Given the description of an element on the screen output the (x, y) to click on. 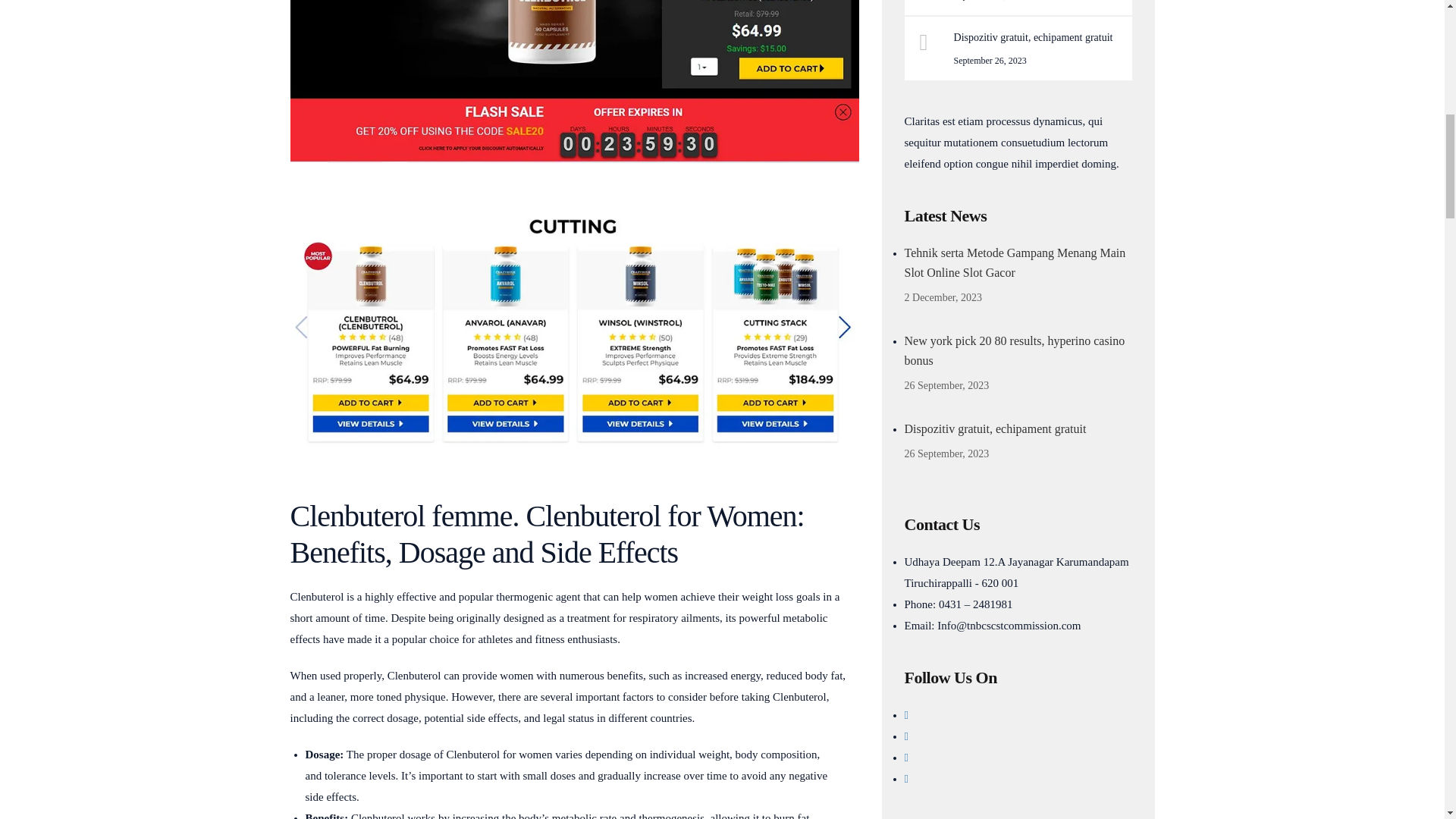
clenbuterol femme (574, 81)
femme clenbuterol (574, 330)
New york pick 20 80 results, hyperino casino bonus (1018, 351)
Dispozitiv gratuit, echipament gratuit (1018, 428)
Dispozitiv gratuit, echipament gratuit (1037, 36)
